Given the description of an element on the screen output the (x, y) to click on. 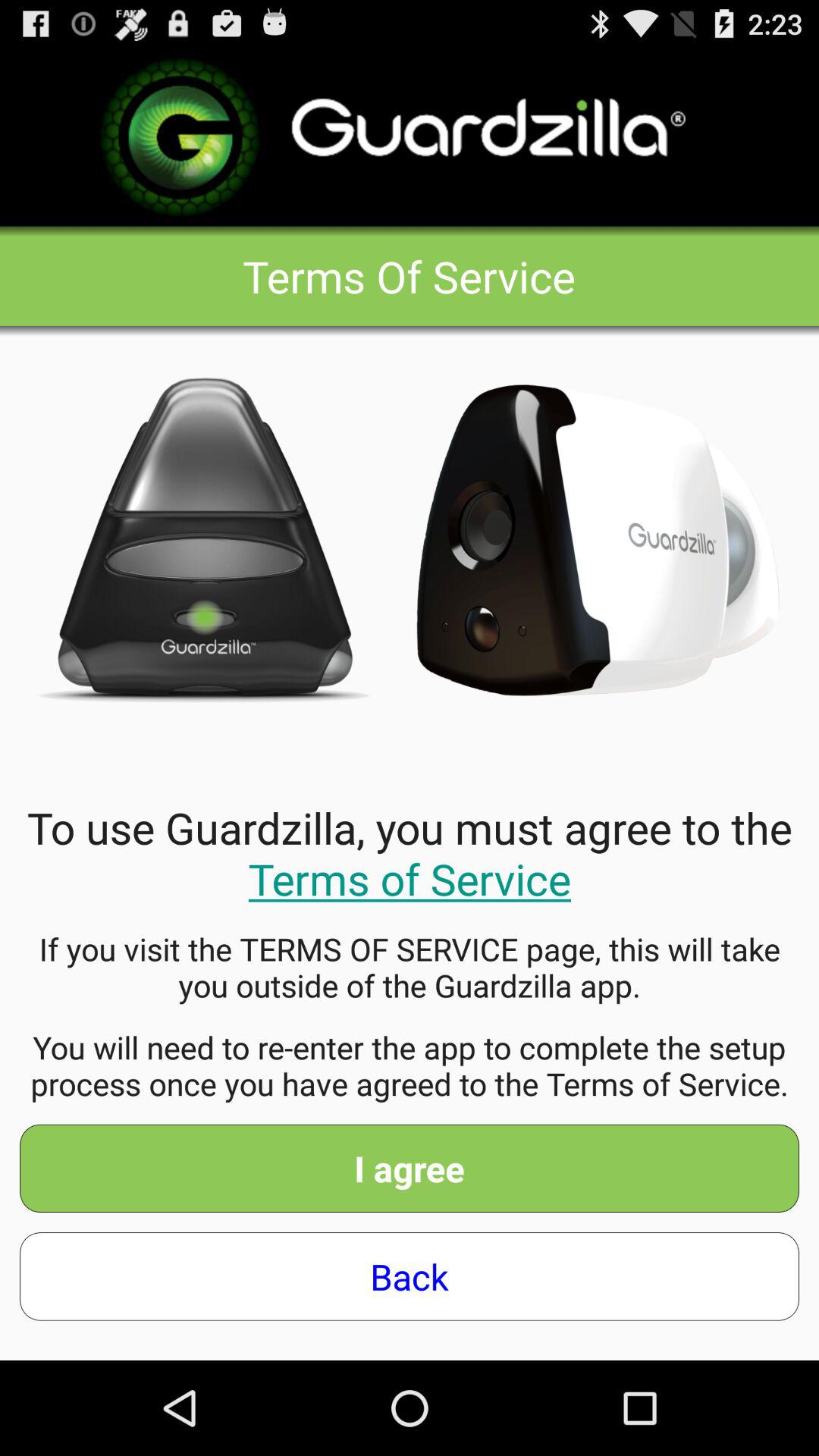
tap the icon below you will need item (409, 1168)
